Given the description of an element on the screen output the (x, y) to click on. 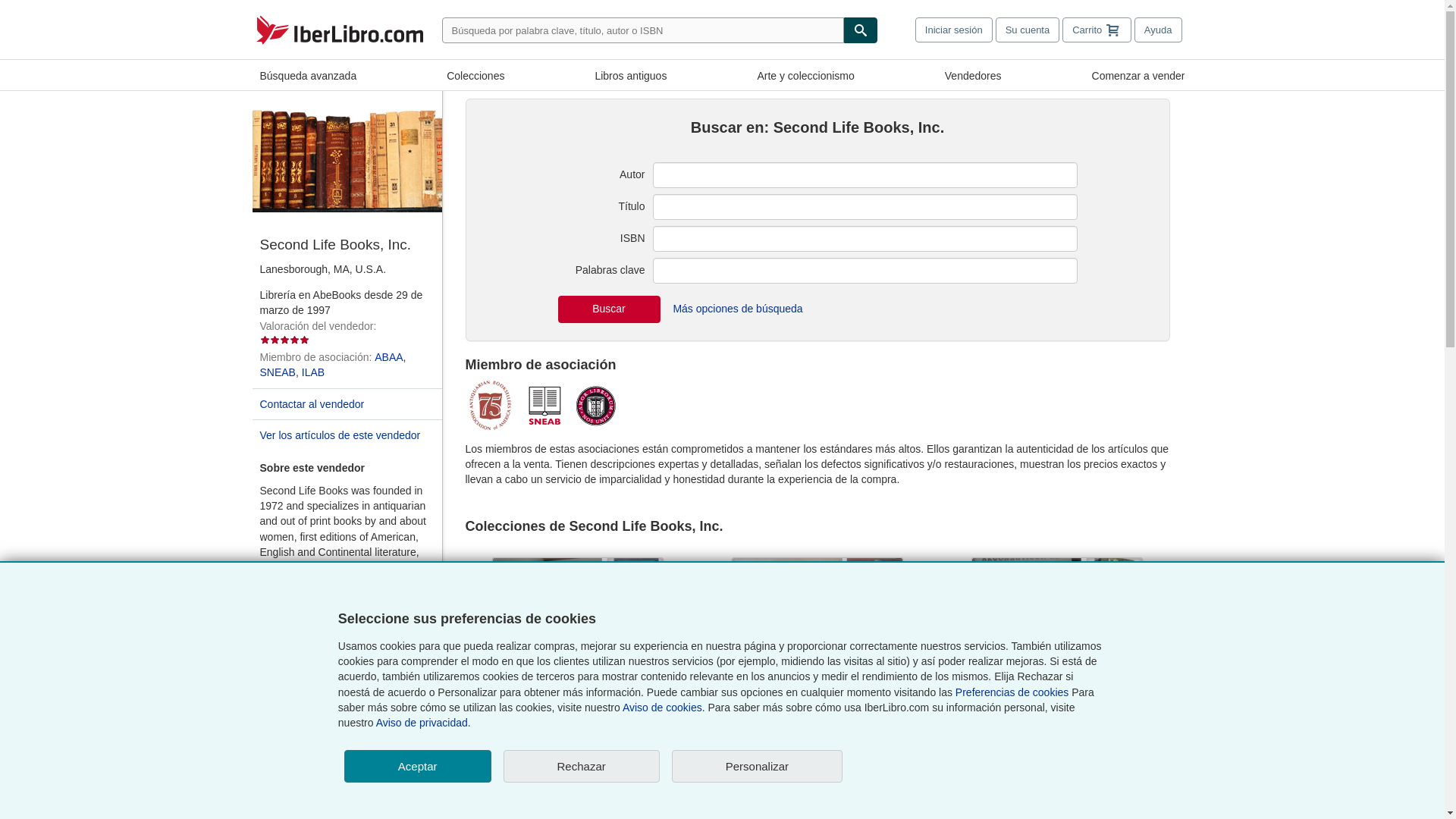
Aviso de cookies. (663, 707)
ILAB (312, 372)
Personalizar (757, 766)
Abolition de Second Life Books, Inc. (577, 723)
Aceptar (417, 766)
Su cuenta (1027, 29)
Rechazar (581, 766)
Portada (346, 30)
Comenzar a vender (1138, 73)
ABAA (388, 357)
